Given the description of an element on the screen output the (x, y) to click on. 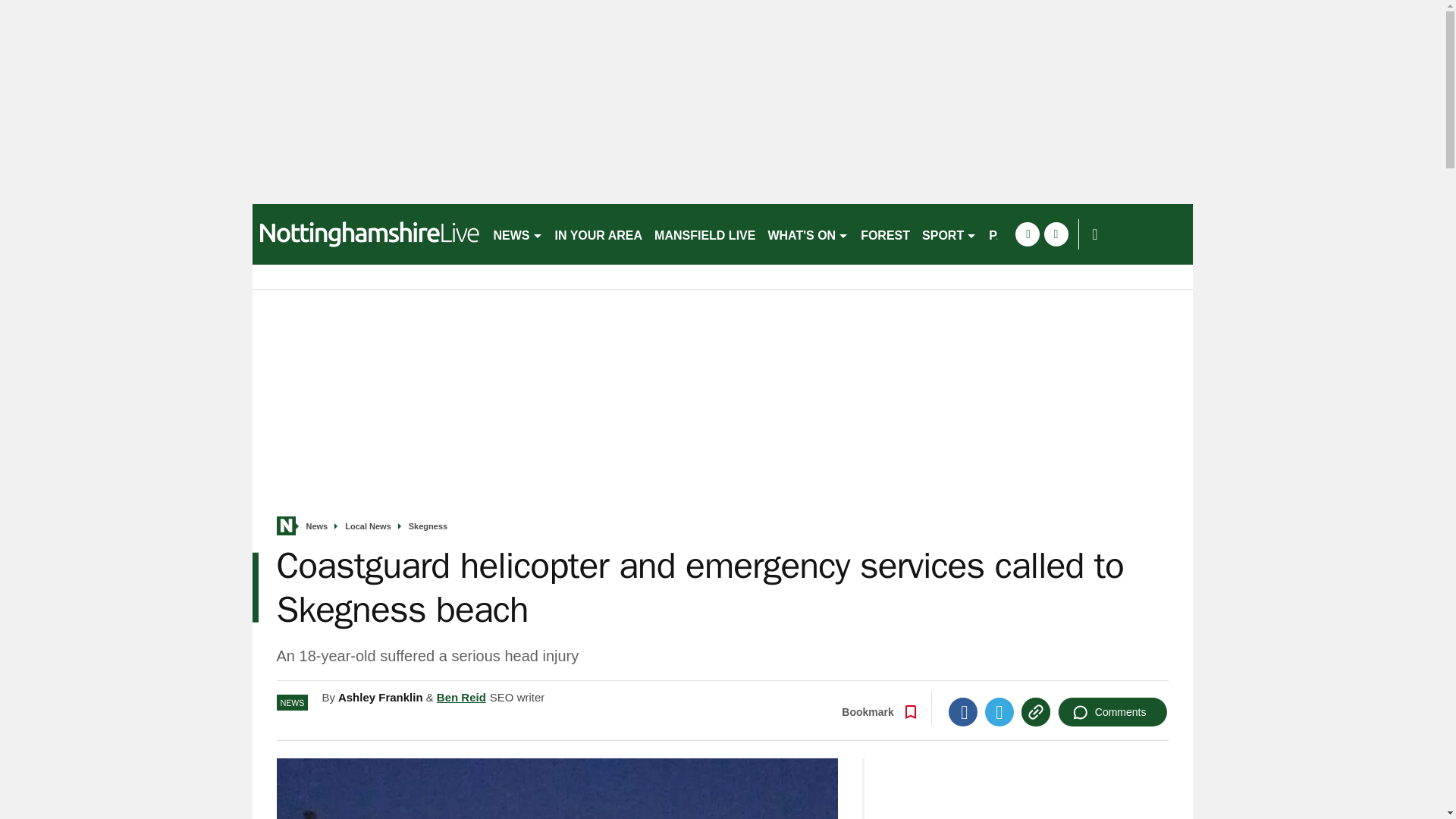
NEWS (517, 233)
WHAT'S ON (807, 233)
nottinghampost (365, 233)
PARTNER STORIES (1045, 233)
Comments (1112, 711)
Twitter (999, 711)
Facebook (962, 711)
FOREST (884, 233)
IN YOUR AREA (598, 233)
twitter (1055, 233)
facebook (1026, 233)
SPORT (948, 233)
MANSFIELD LIVE (704, 233)
